Given the description of an element on the screen output the (x, y) to click on. 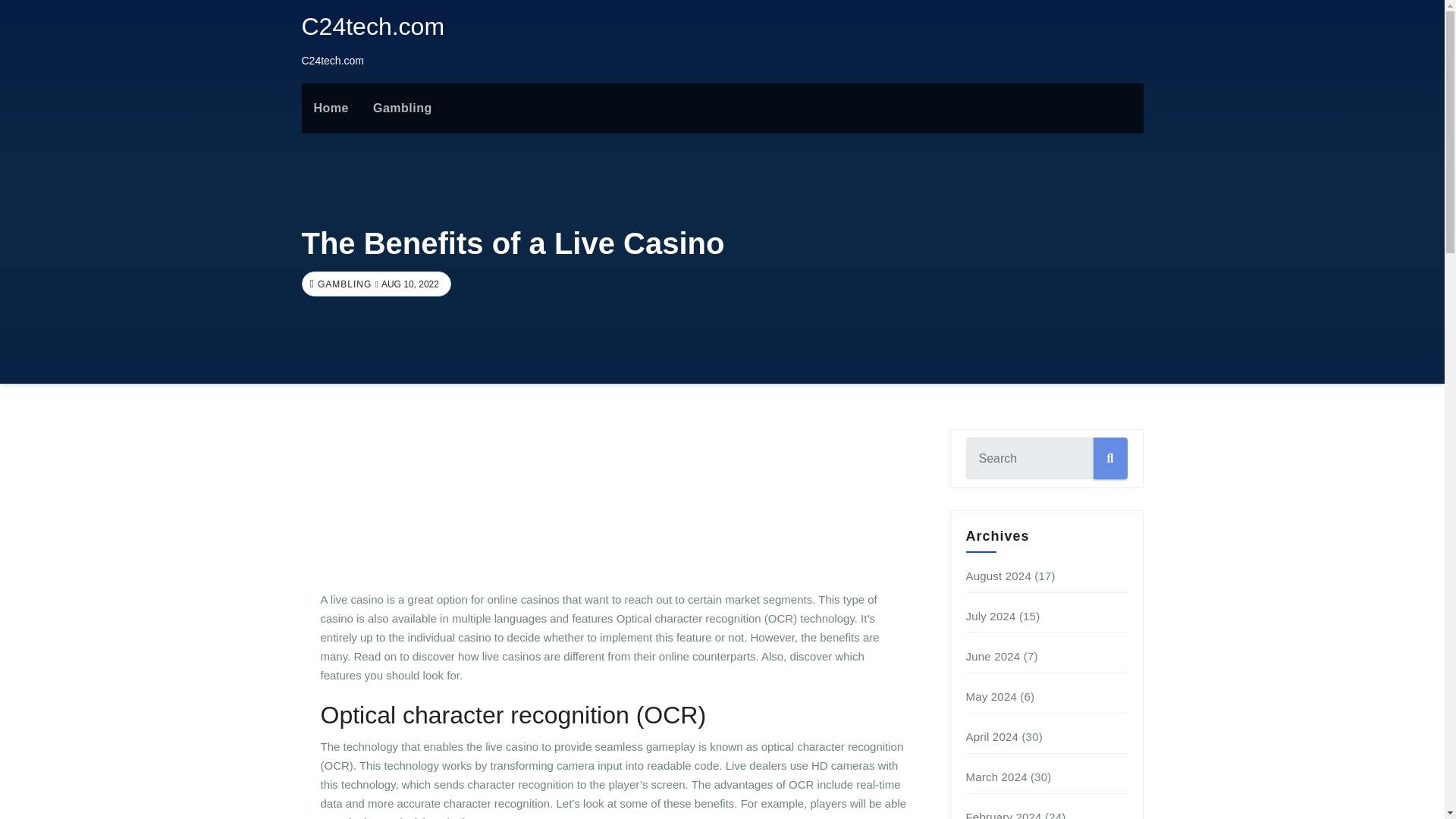
March 2024 (996, 776)
Home (331, 108)
July 2024 (991, 615)
May 2024 (991, 696)
Gambling (402, 108)
February 2024 (1004, 814)
GAMBLING (342, 284)
April 2024 (992, 736)
June 2024 (993, 656)
August 2024 (998, 575)
